Given the description of an element on the screen output the (x, y) to click on. 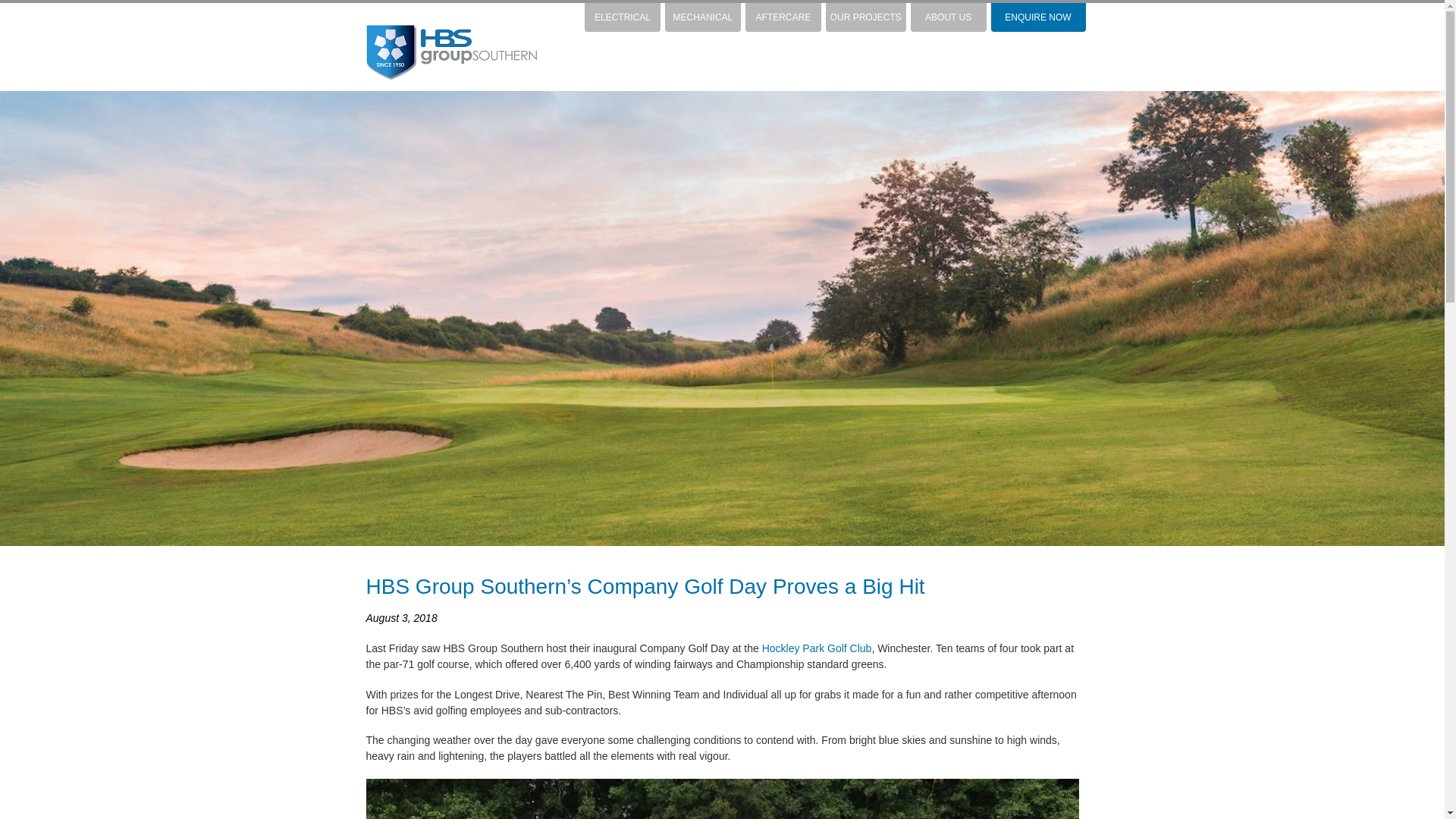
MECHANICAL (702, 17)
HBS Group Southern (450, 51)
AFTERCARE (782, 17)
Hockley Park Golf Club (816, 648)
ELECTRICAL (622, 17)
OUR PROJECTS (865, 17)
ABOUT US (947, 17)
ENQUIRE NOW (1037, 17)
